Given the description of an element on the screen output the (x, y) to click on. 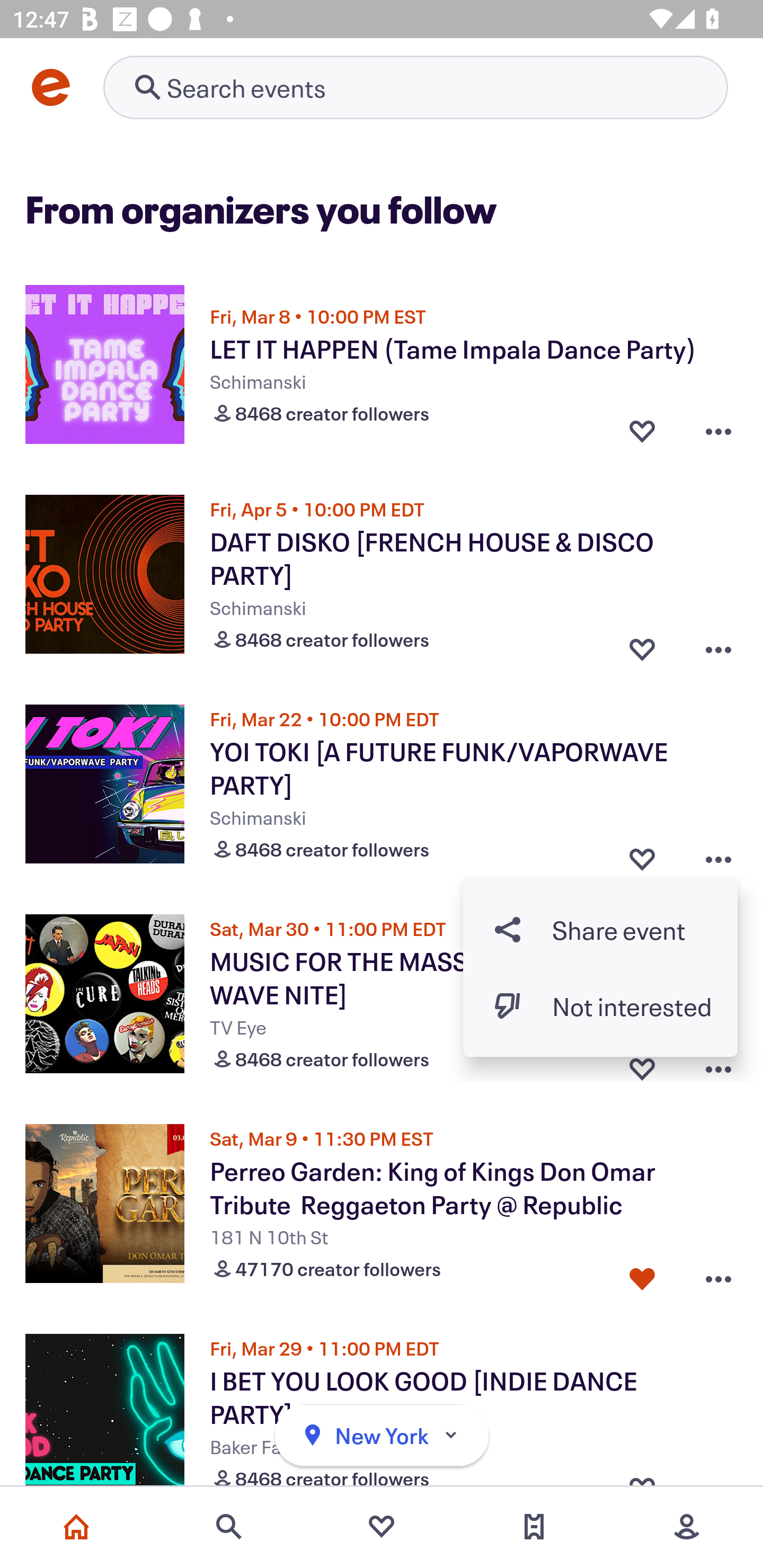
Share button Share event (600, 929)
Dislike event button Not interested (600, 1005)
